Given the description of an element on the screen output the (x, y) to click on. 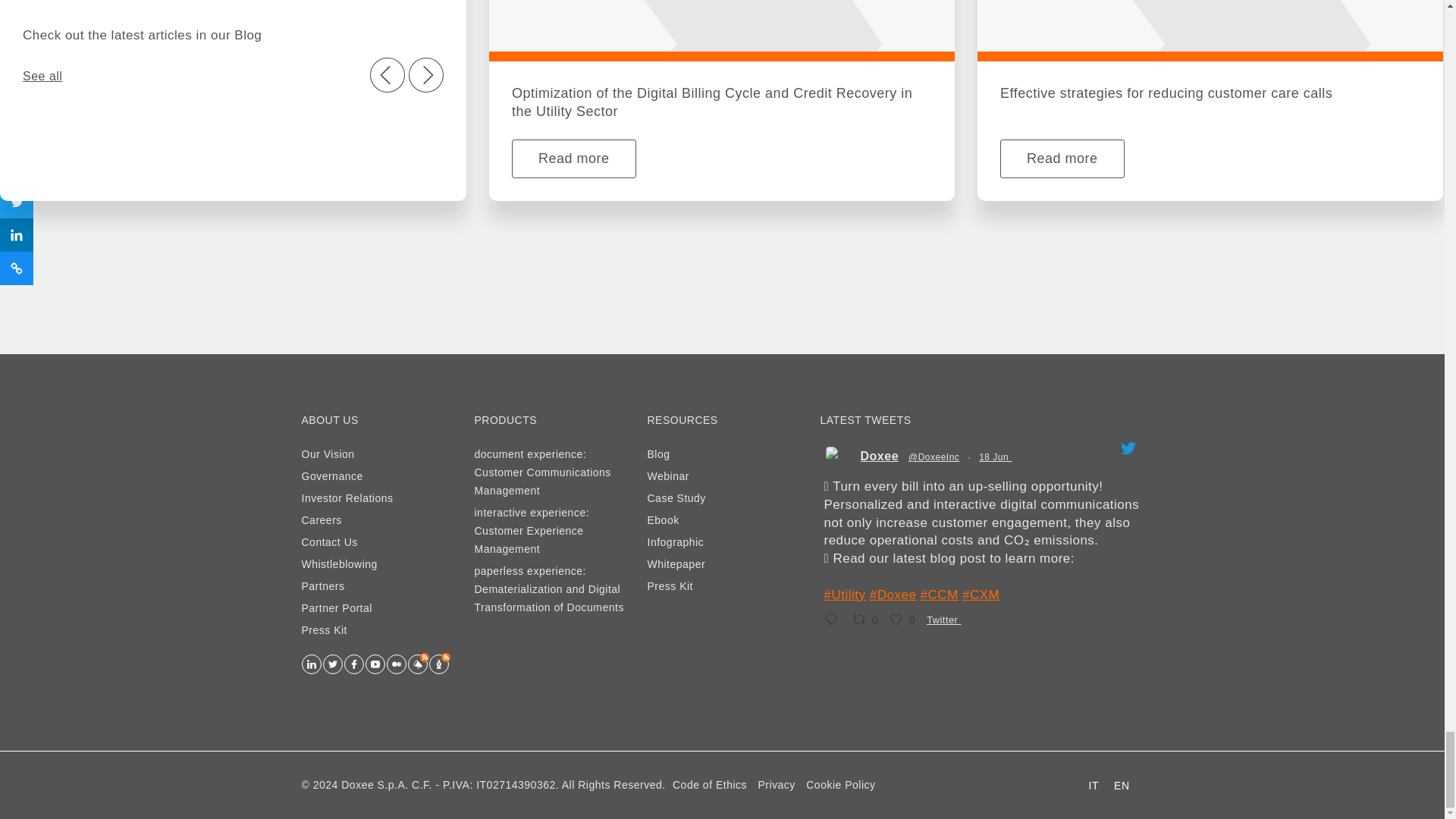
RSS Blog (417, 664)
RSS News (438, 664)
